Given the description of an element on the screen output the (x, y) to click on. 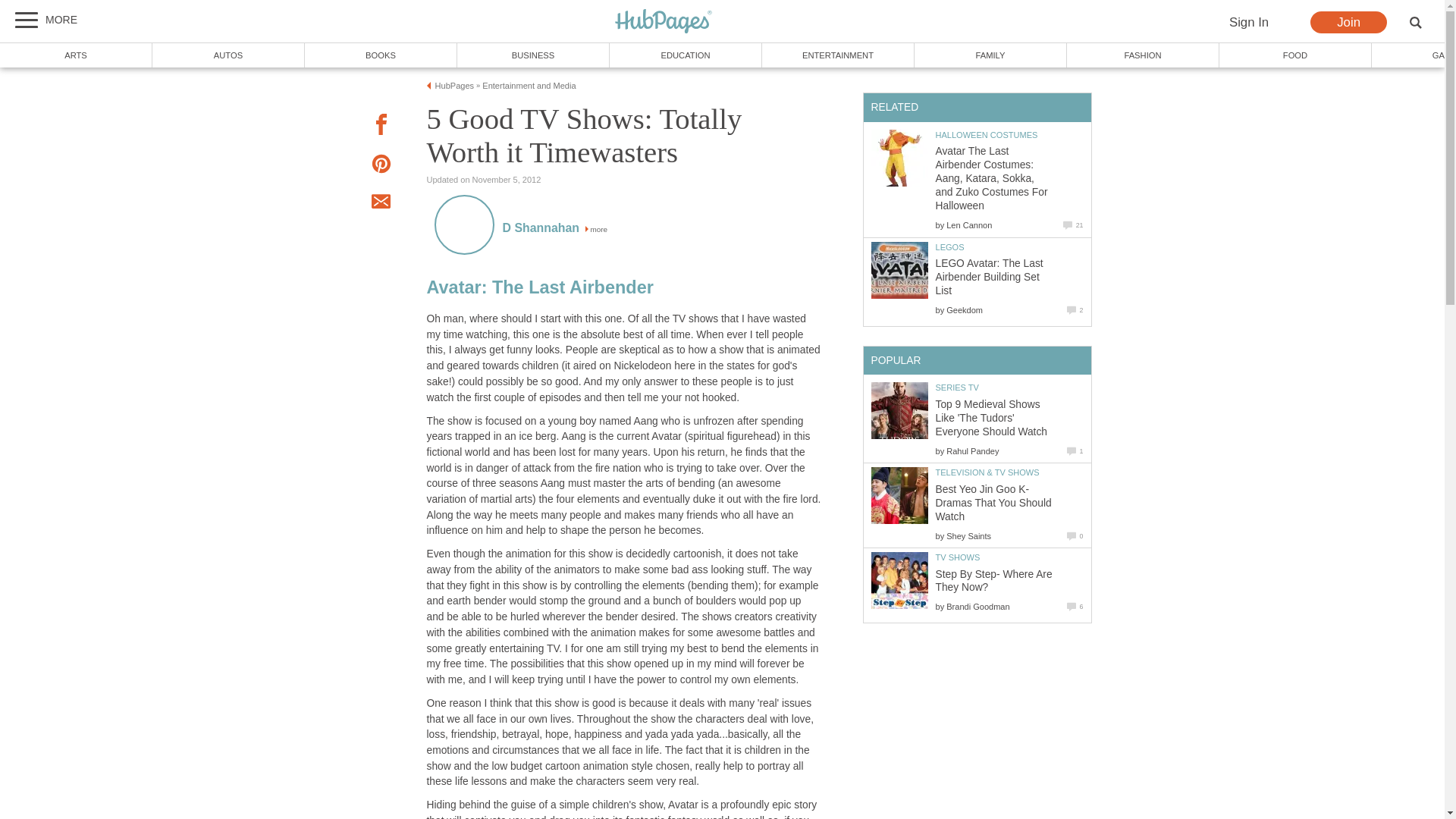
HubPages (663, 22)
HALLOWEEN COSTUMES (987, 134)
Top 9 Medieval Shows Like 'The Tudors' Everyone Should Watch (898, 410)
FASHION (1143, 55)
HubPages (454, 85)
BOOKS (380, 55)
AUTOS (228, 55)
Email (380, 203)
Sign In (1248, 22)
FOOD (1295, 55)
LEGO Avatar: The Last Airbender Building Set List (989, 276)
HubPages (663, 21)
Best Yeo Jin Goo K-Dramas That You Should Watch (898, 495)
ENTERTAINMENT (837, 55)
